Given the description of an element on the screen output the (x, y) to click on. 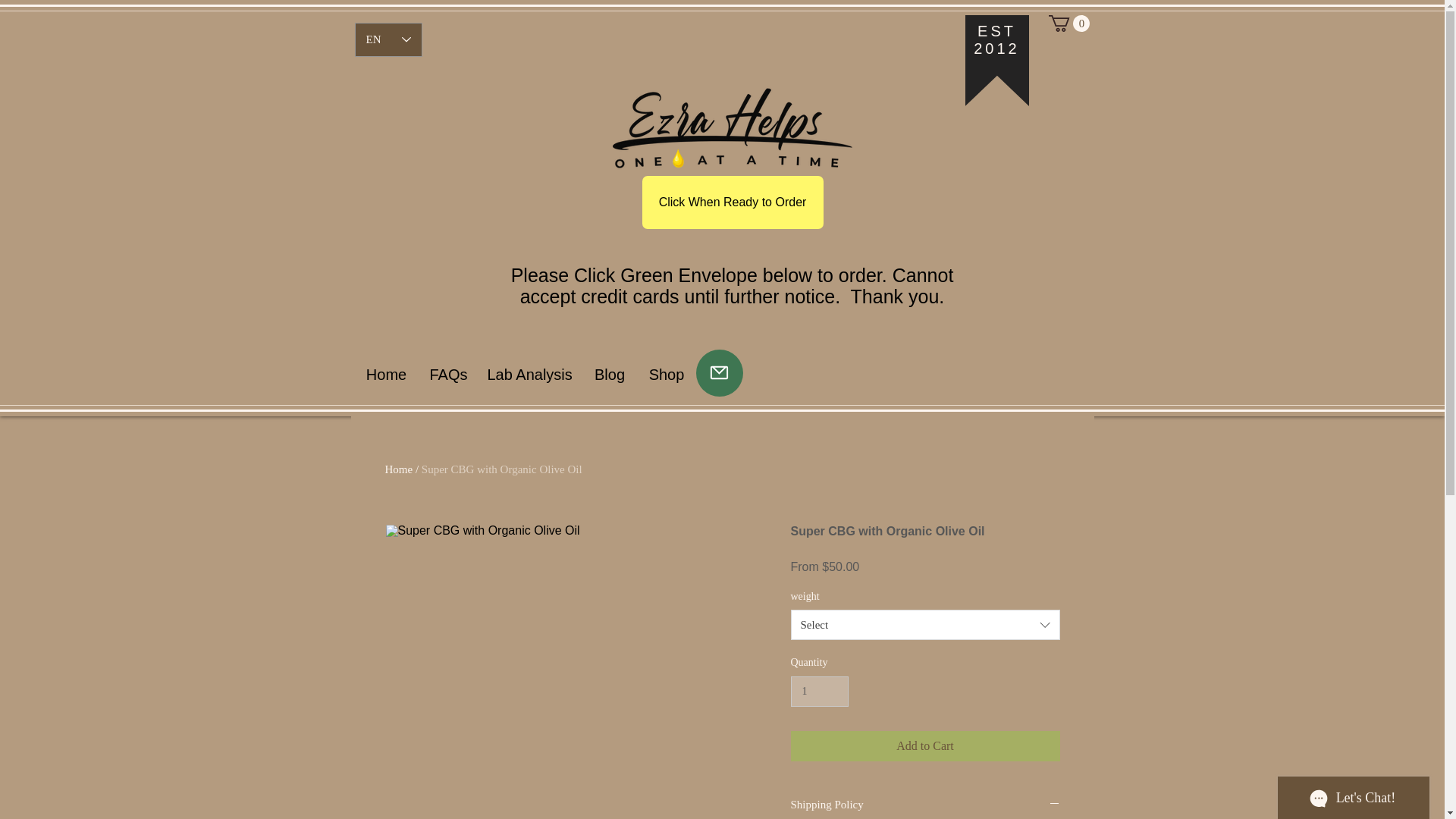
Blog (609, 373)
Lab Analysis (529, 373)
0 (1068, 23)
Shipping Policy (924, 805)
0 (1068, 23)
Super CBG with Organic Olive Oil (502, 468)
Shop (666, 373)
Home (387, 373)
Select (924, 624)
Home (399, 468)
